Given the description of an element on the screen output the (x, y) to click on. 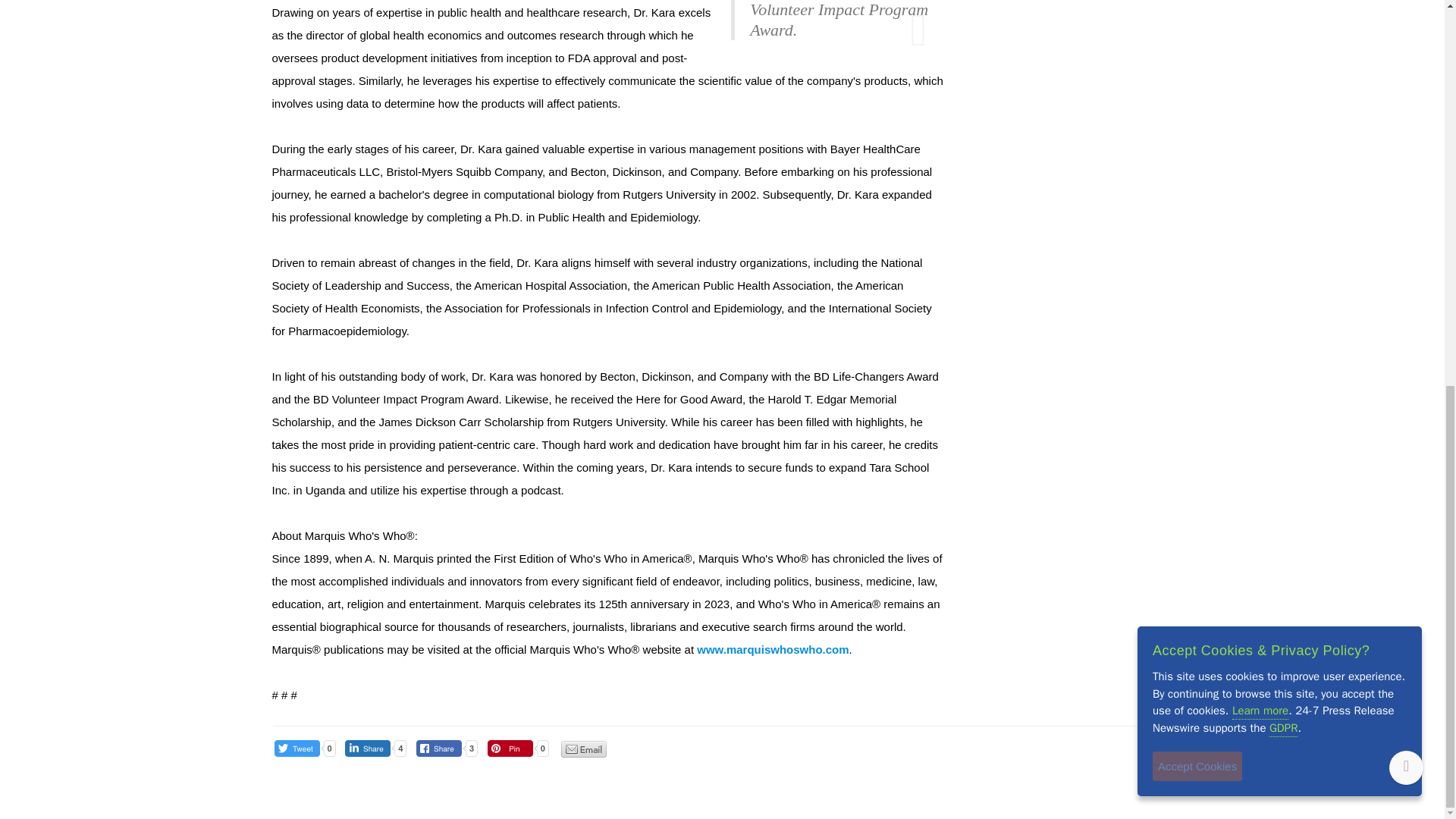
Accept Cookies (1197, 38)
GDPR (1283, 4)
www.marquiswhoswho.com (772, 649)
